Given the description of an element on the screen output the (x, y) to click on. 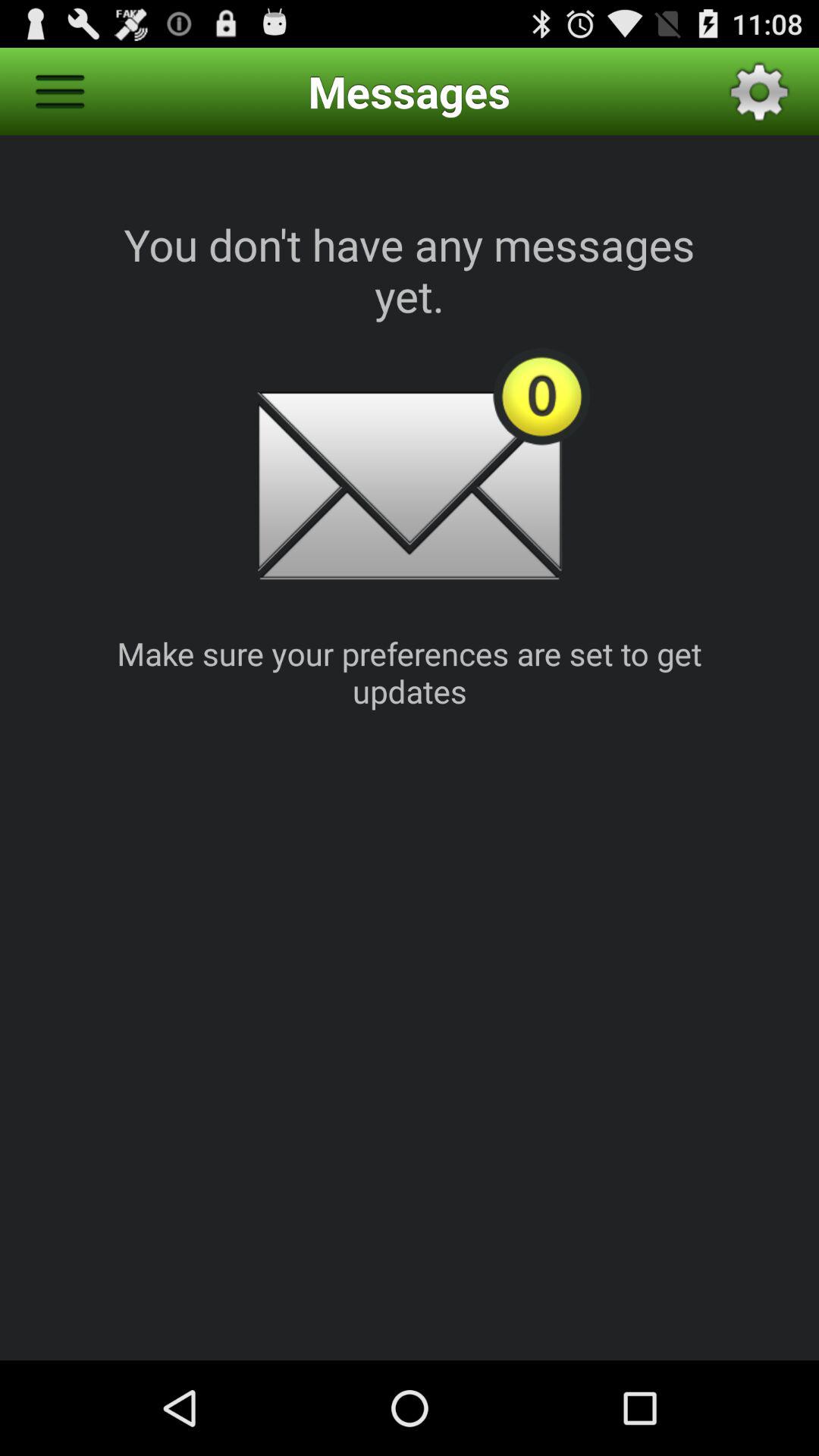
select item next to the messages (59, 91)
